Given the description of an element on the screen output the (x, y) to click on. 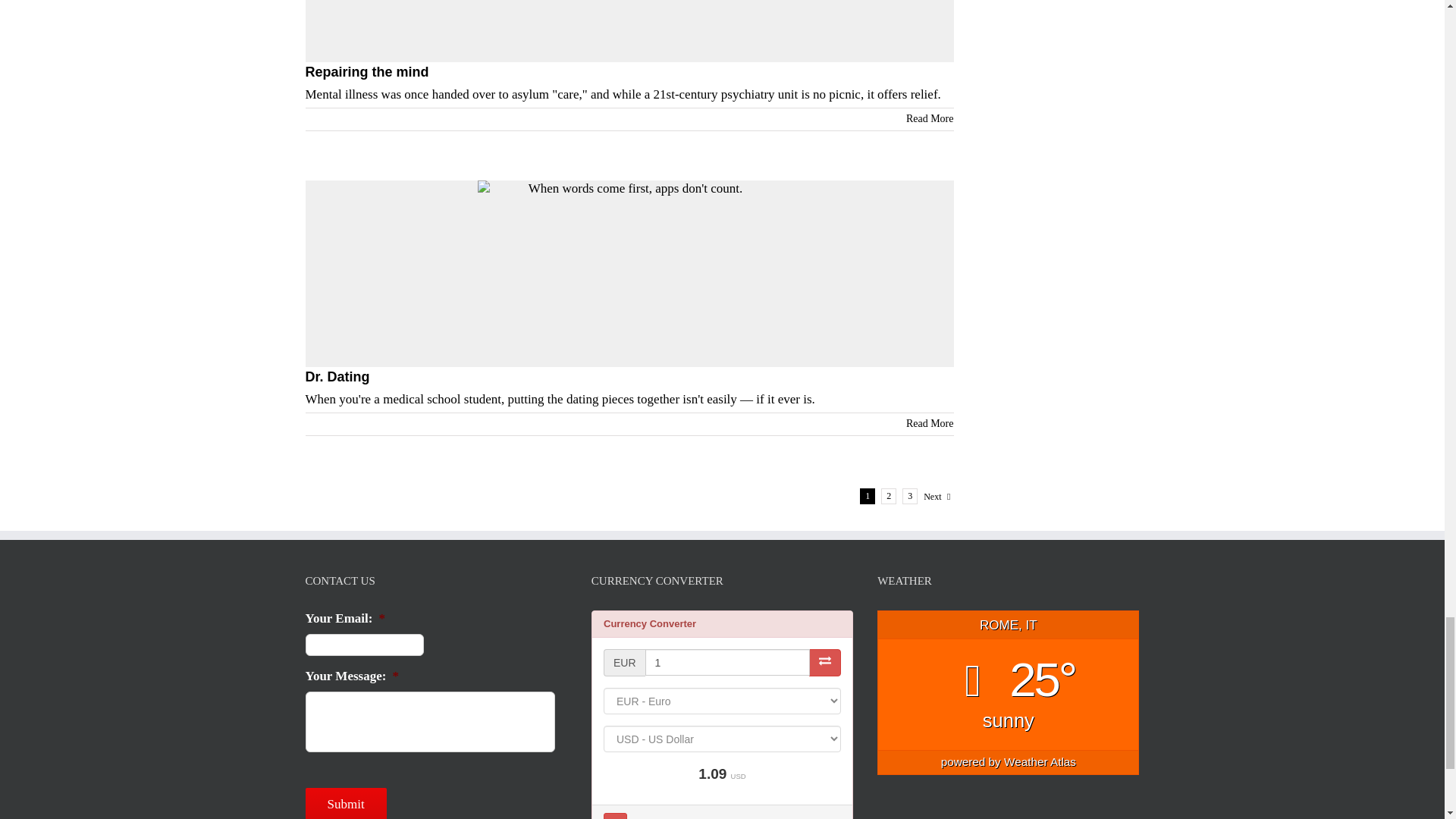
Submit (344, 803)
Currency Converter: CurrencyRate.Today (722, 714)
